Given the description of an element on the screen output the (x, y) to click on. 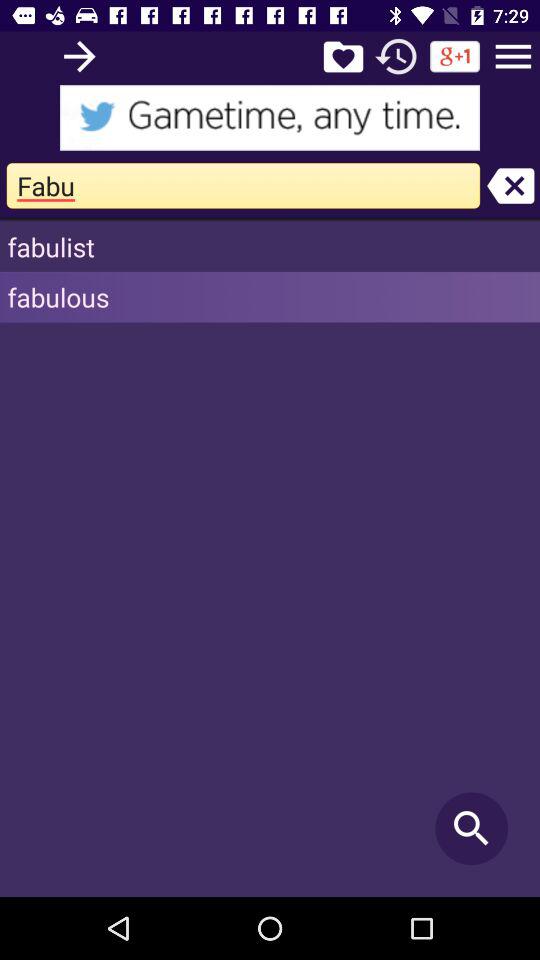
display advertisement (270, 117)
